Given the description of an element on the screen output the (x, y) to click on. 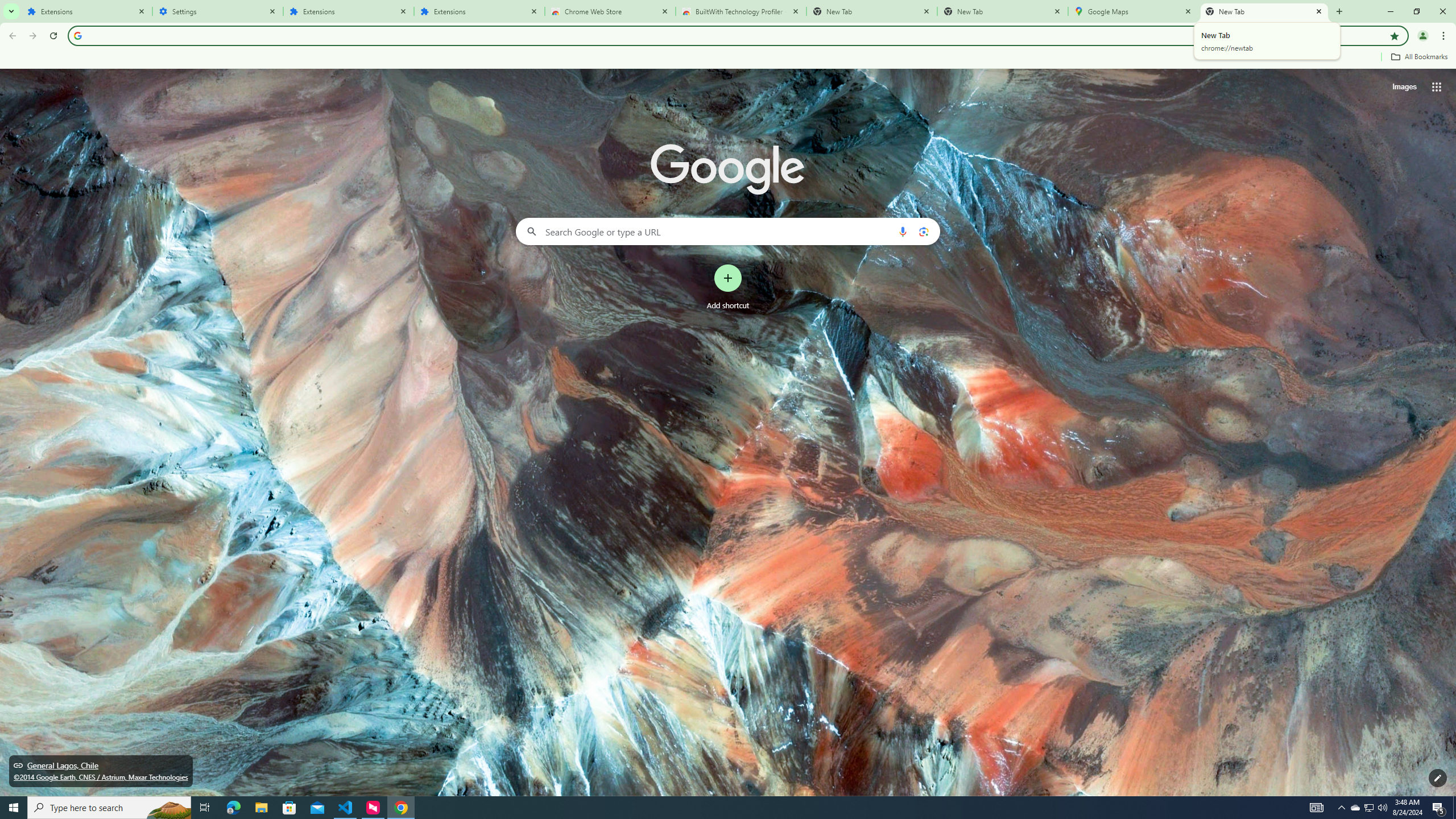
New Tab (1264, 11)
New Tab (1002, 11)
BuiltWith Technology Profiler - Chrome Web Store (740, 11)
Search Google or type a URL (727, 230)
